Given the description of an element on the screen output the (x, y) to click on. 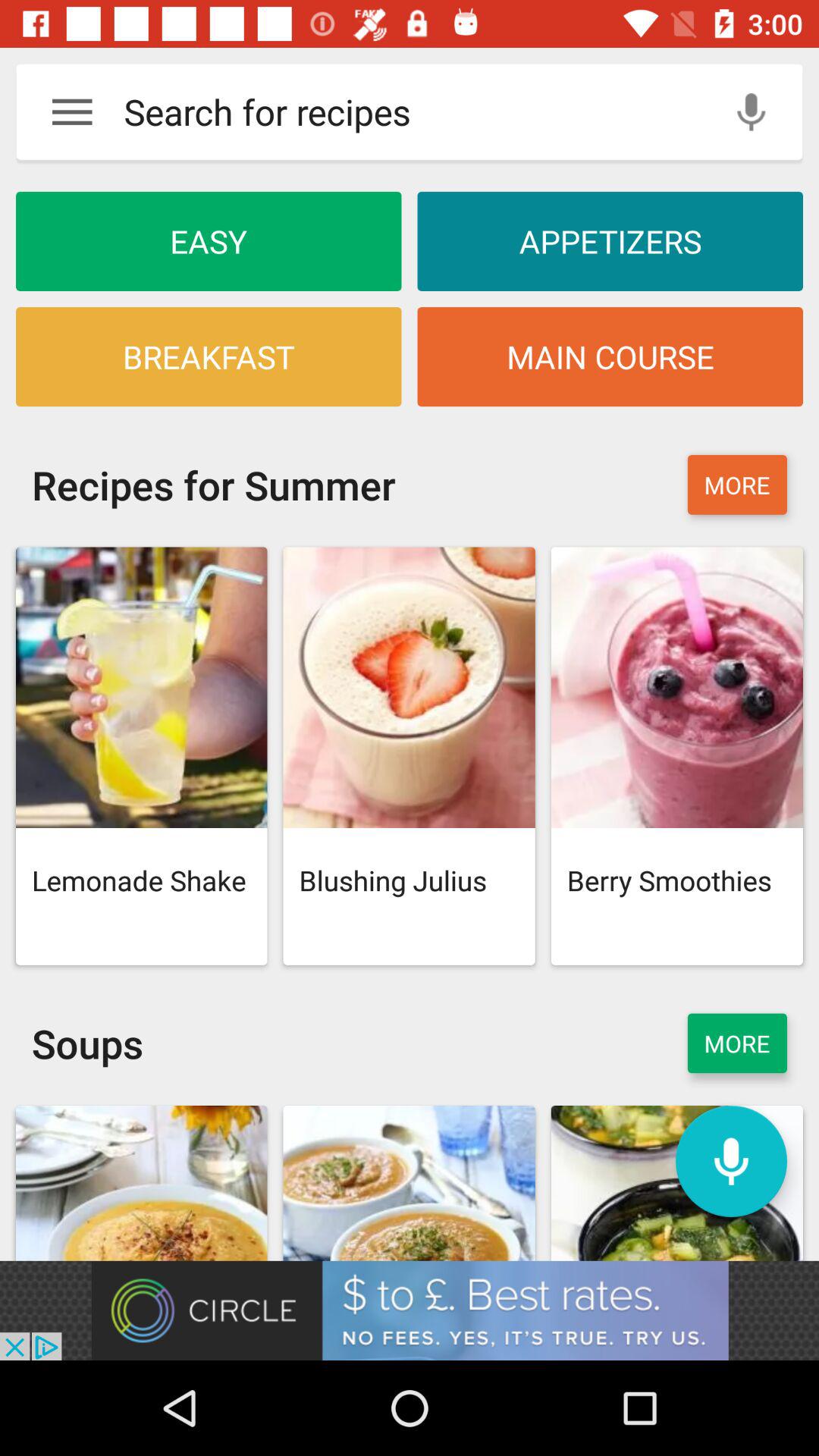
turn on mic (731, 1161)
